Given the description of an element on the screen output the (x, y) to click on. 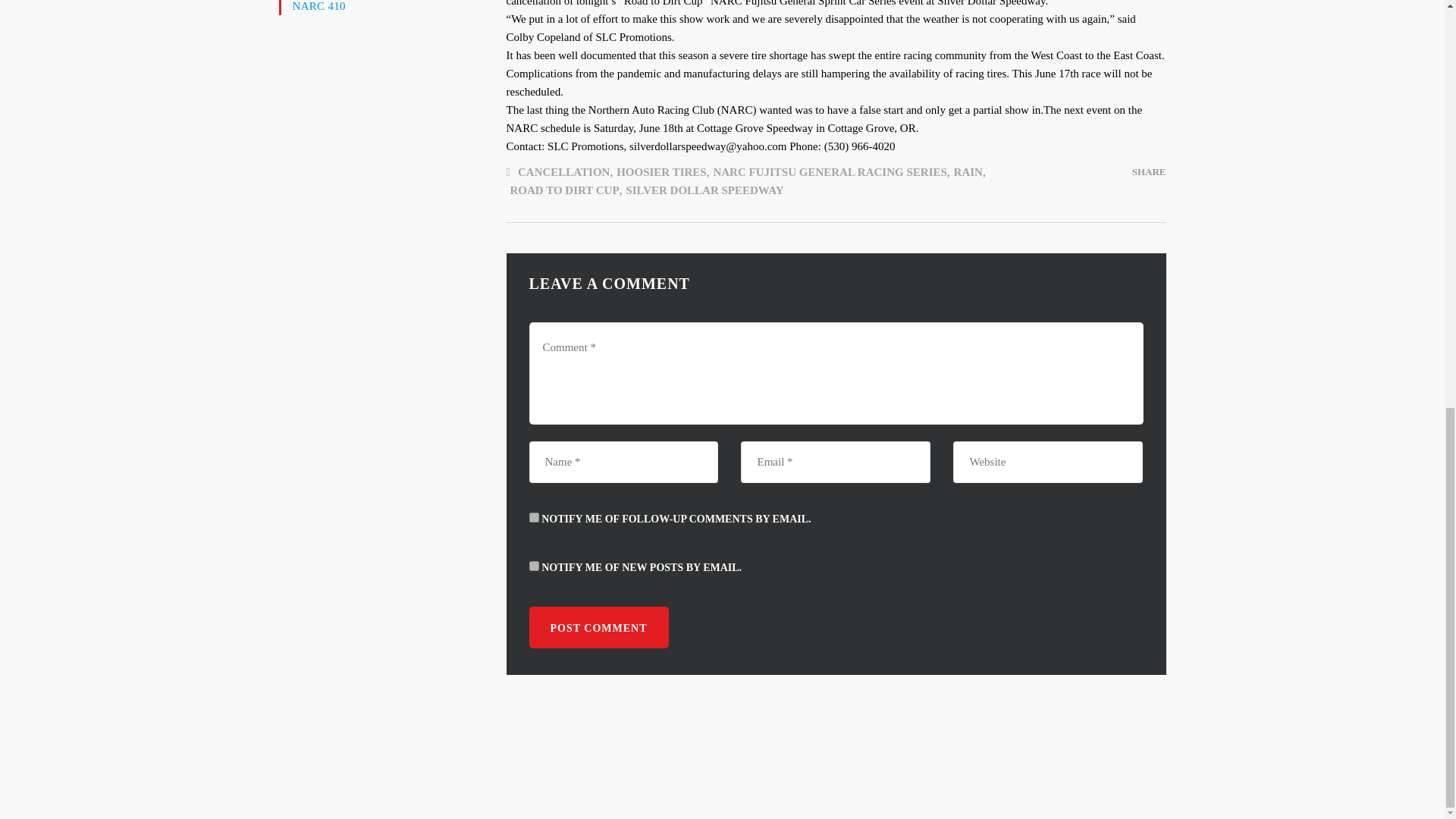
Post Comment (598, 627)
subscribe (533, 565)
subscribe (533, 517)
